Given the description of an element on the screen output the (x, y) to click on. 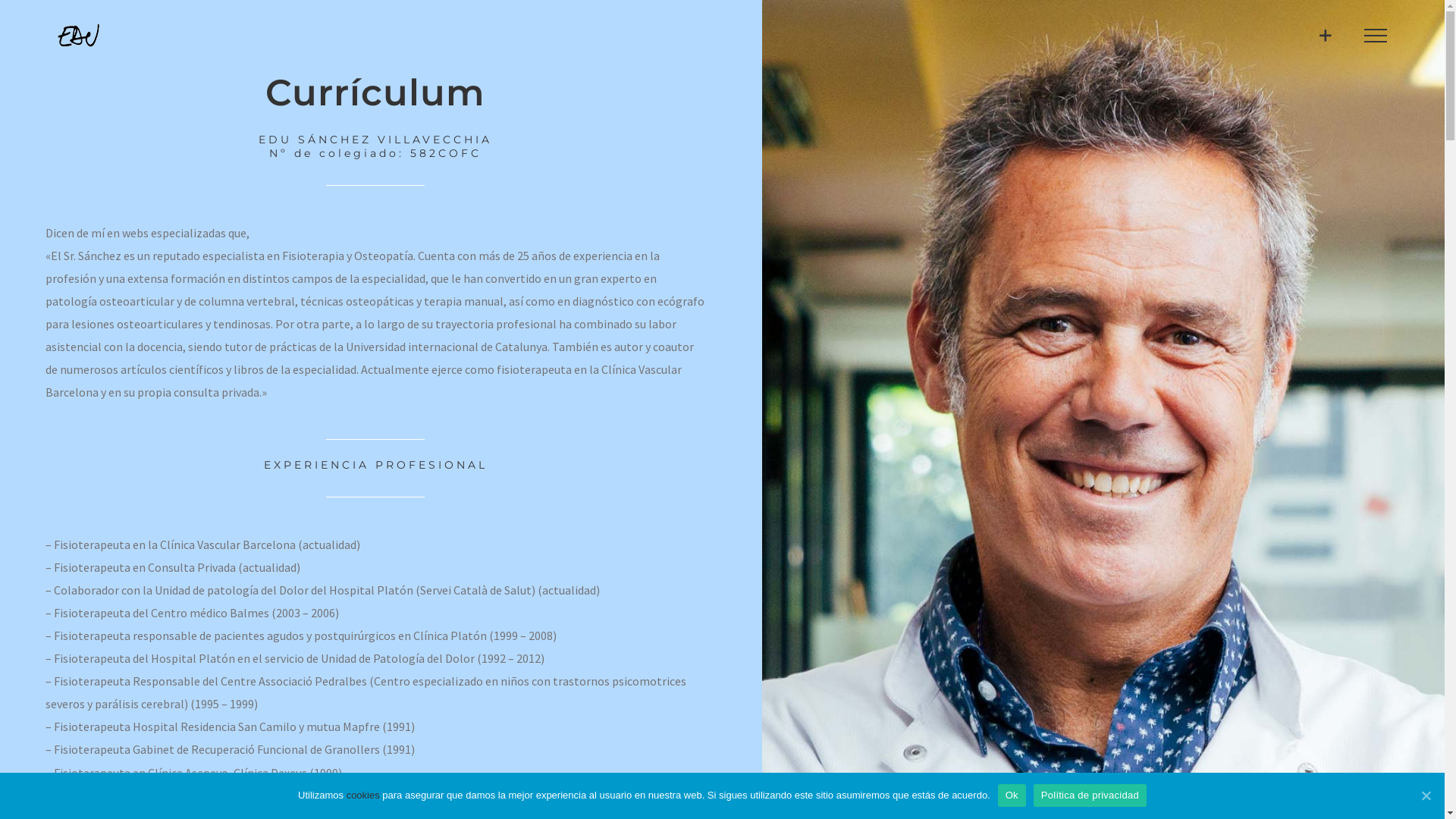
cookies Element type: text (362, 794)
Ok Element type: text (1011, 795)
